Given the description of an element on the screen output the (x, y) to click on. 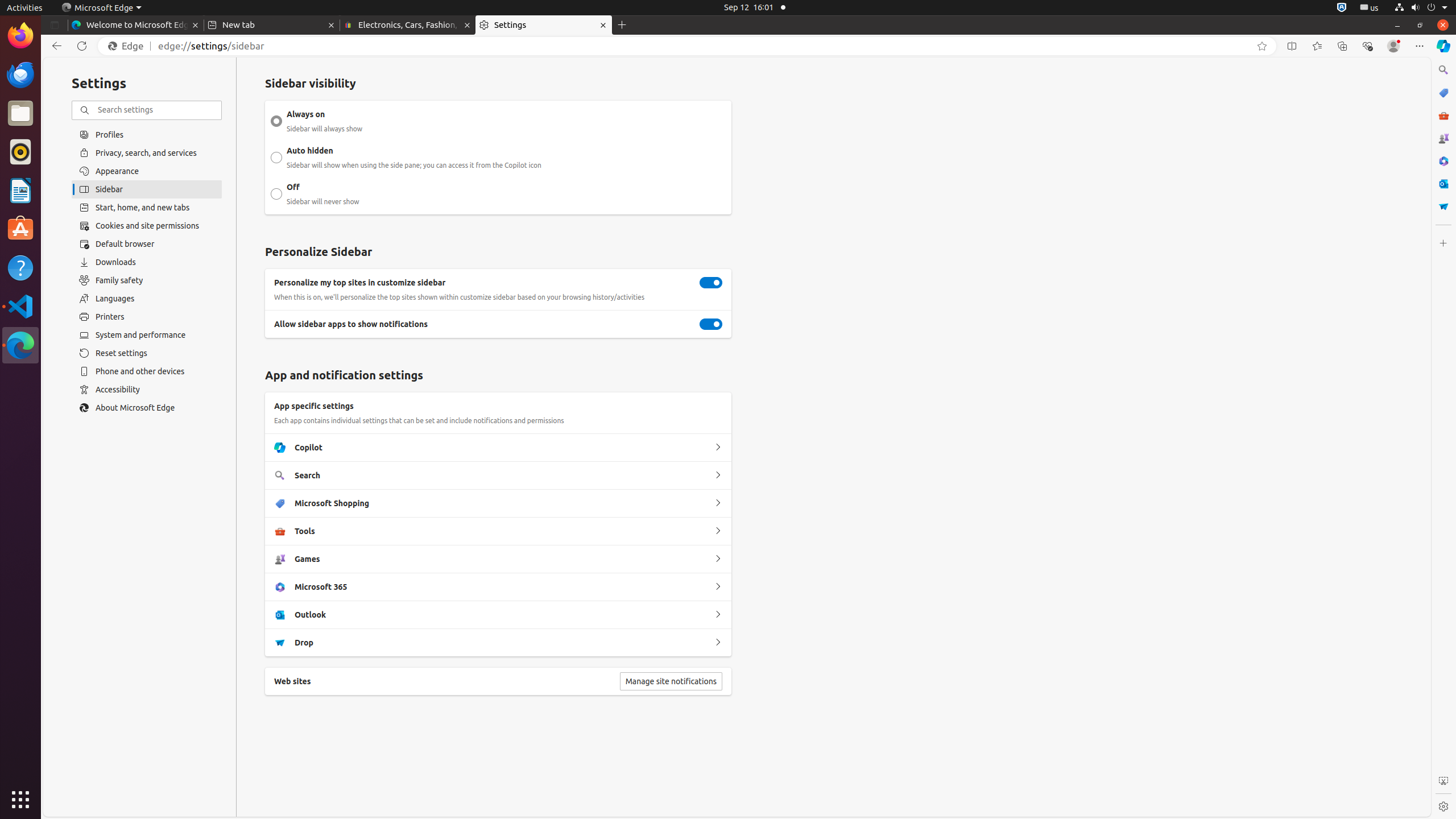
New Tab Element type: push-button (622, 25)
Browser essentials Element type: push-button (1366, 45)
Microsoft 365 Element type: push-button (717, 586)
Reset settings Element type: tree-item (146, 353)
Phone and other devices Element type: tree-item (146, 371)
